Given the description of an element on the screen output the (x, y) to click on. 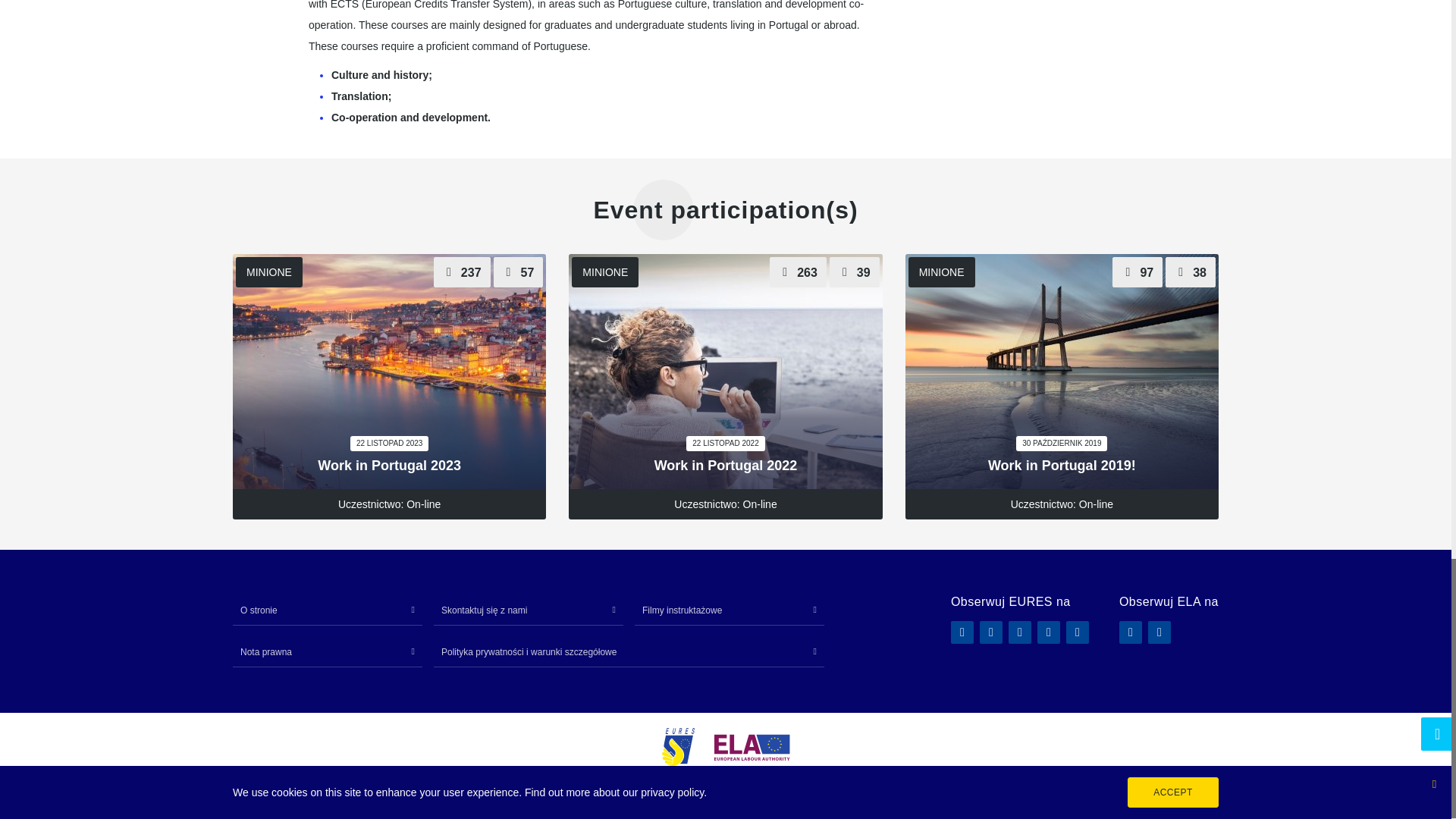
EURES na X (1047, 631)
European Labour Authority (752, 746)
ELA na X (1159, 631)
EURES na LinkedIn (1019, 631)
EURES na YouTube (1077, 631)
ELA na LinkedIn (1130, 631)
EURES na Facebook (962, 631)
EURES na Flickr (991, 631)
